Given the description of an element on the screen output the (x, y) to click on. 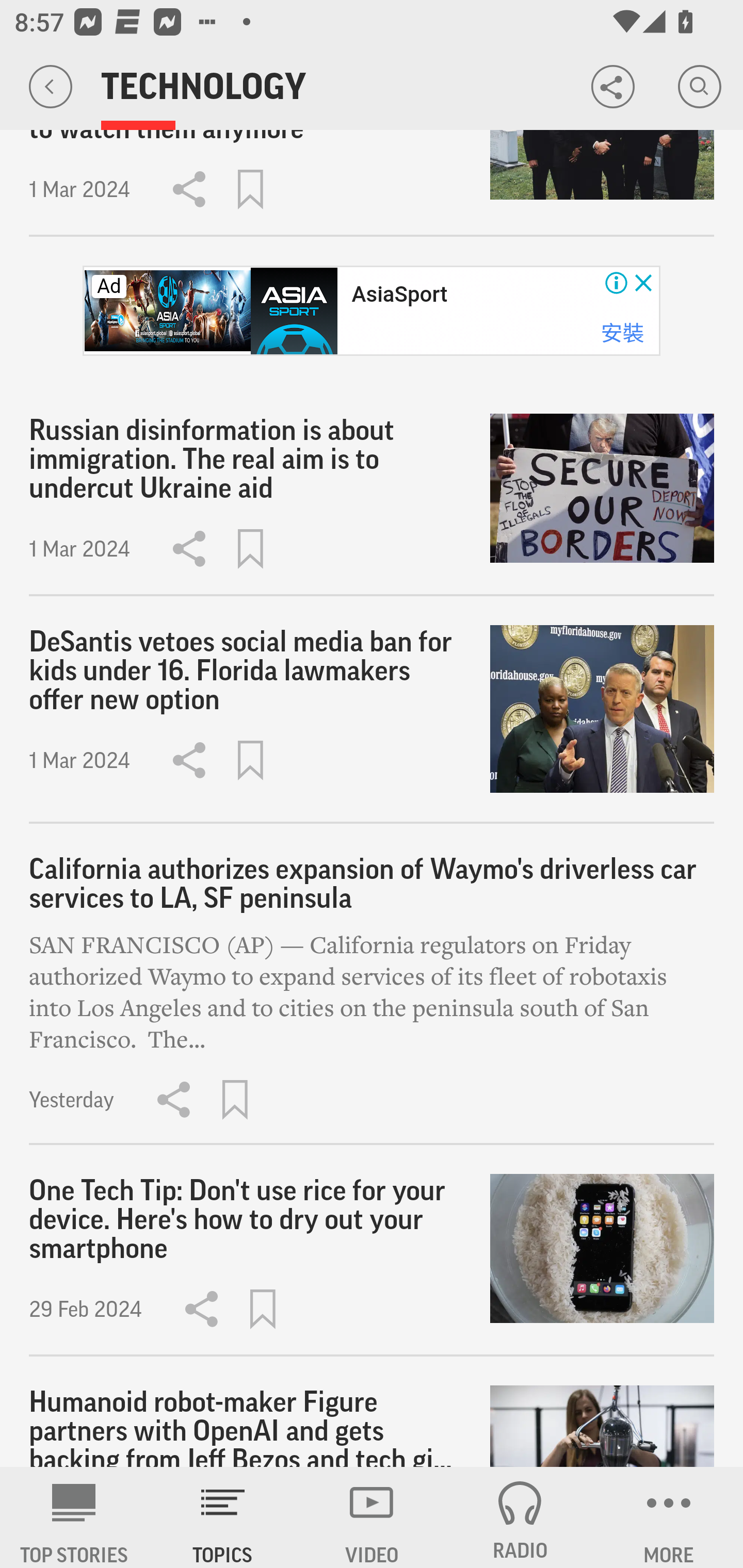
AsiaSport (398, 294)
安裝 (621, 332)
AP News TOP STORIES (74, 1517)
TOPICS (222, 1517)
VIDEO (371, 1517)
RADIO (519, 1517)
MORE (668, 1517)
